Given the description of an element on the screen output the (x, y) to click on. 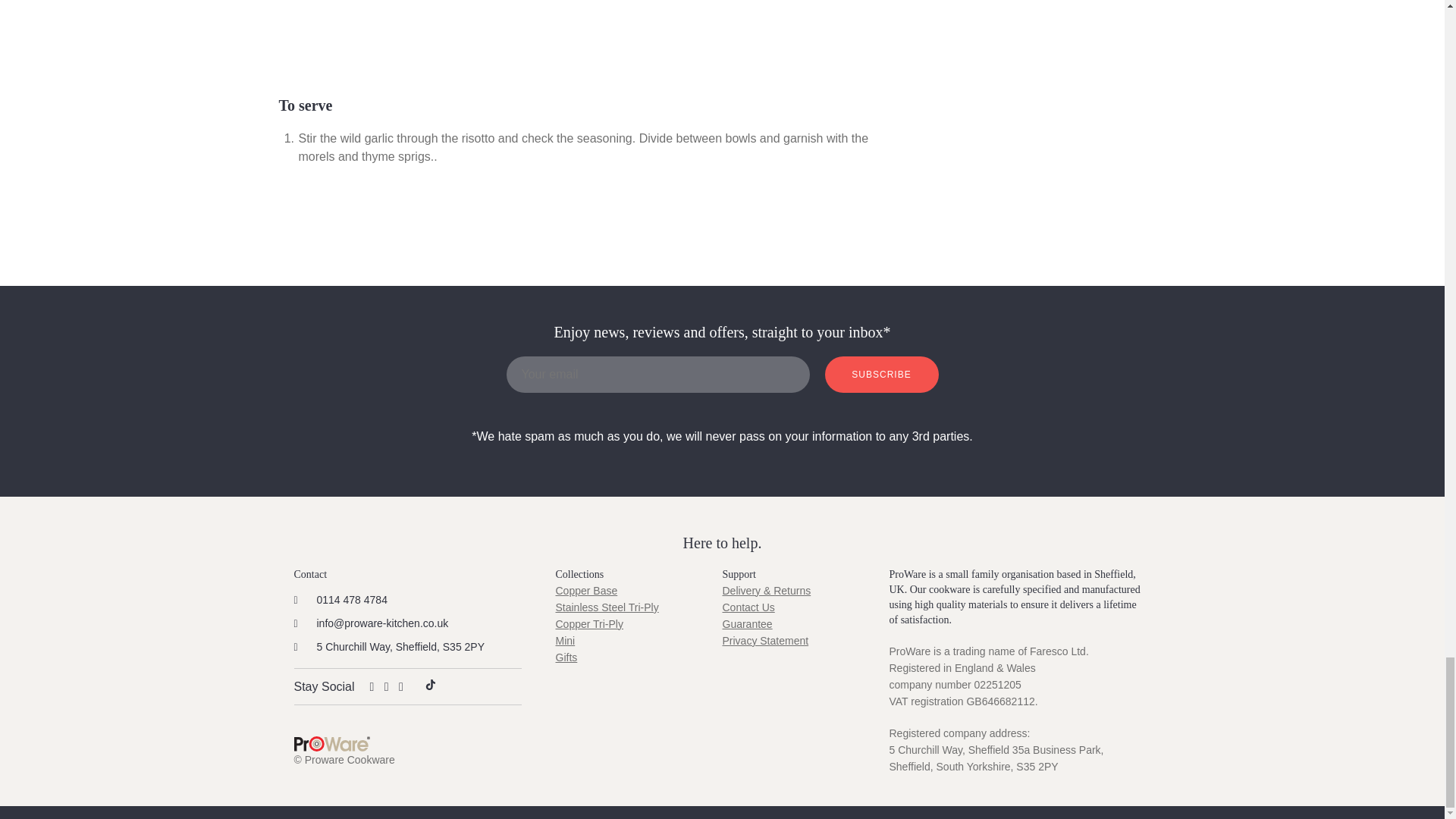
SUBSCRIBE (882, 374)
